Given the description of an element on the screen output the (x, y) to click on. 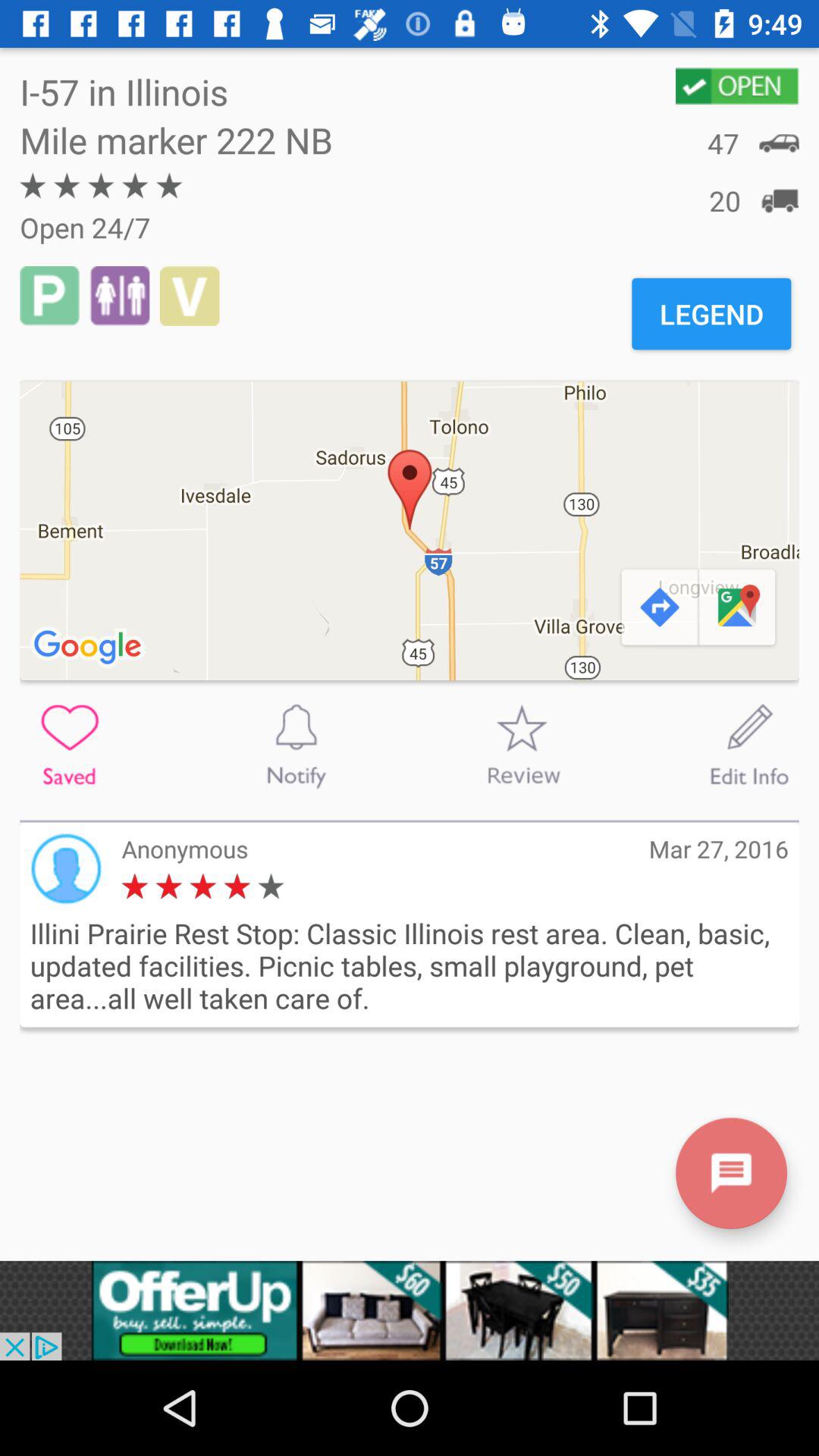
like and save option (69, 744)
